Given the description of an element on the screen output the (x, y) to click on. 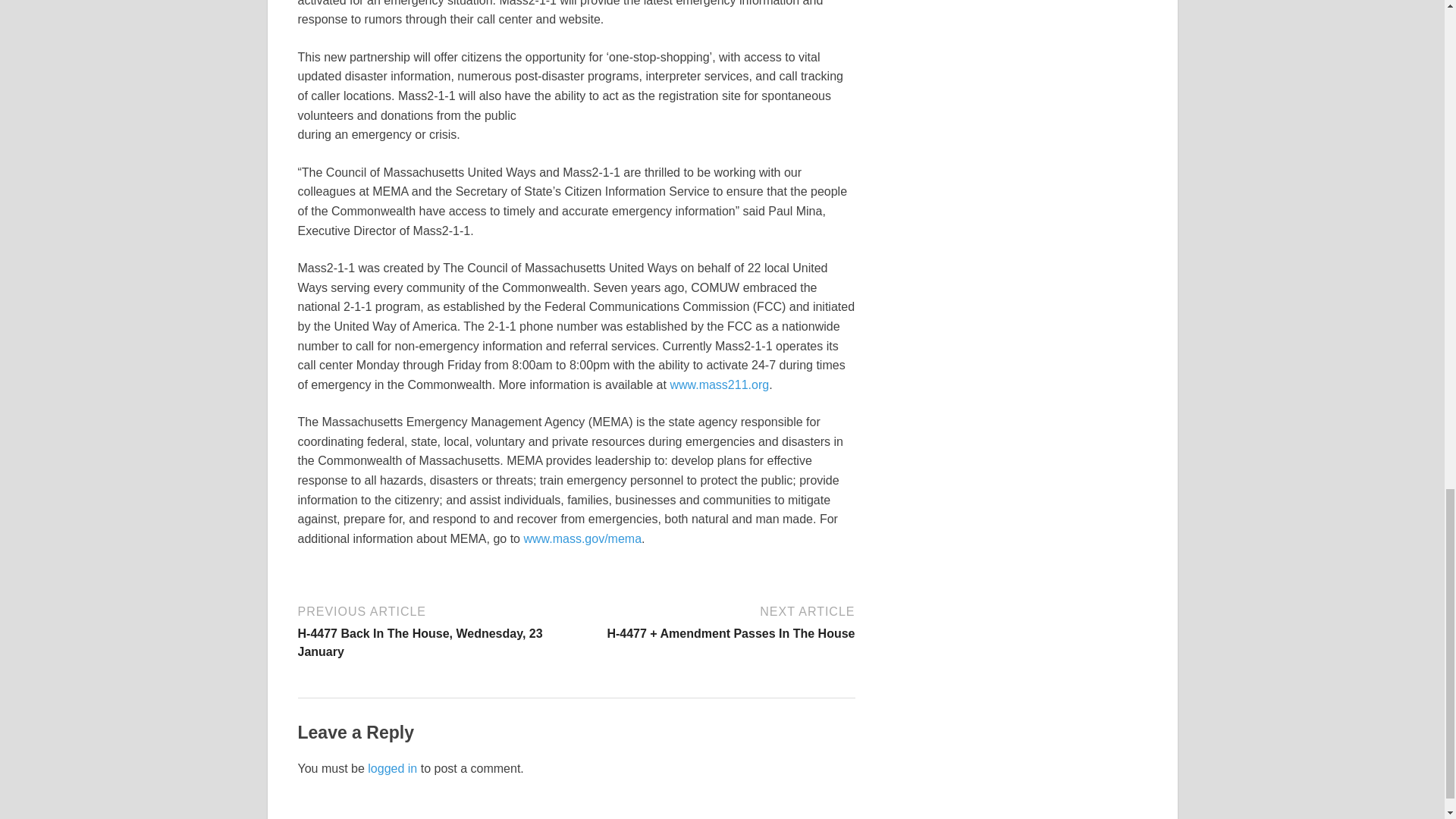
www.mass211.org (718, 384)
logged in (392, 768)
